Given the description of an element on the screen output the (x, y) to click on. 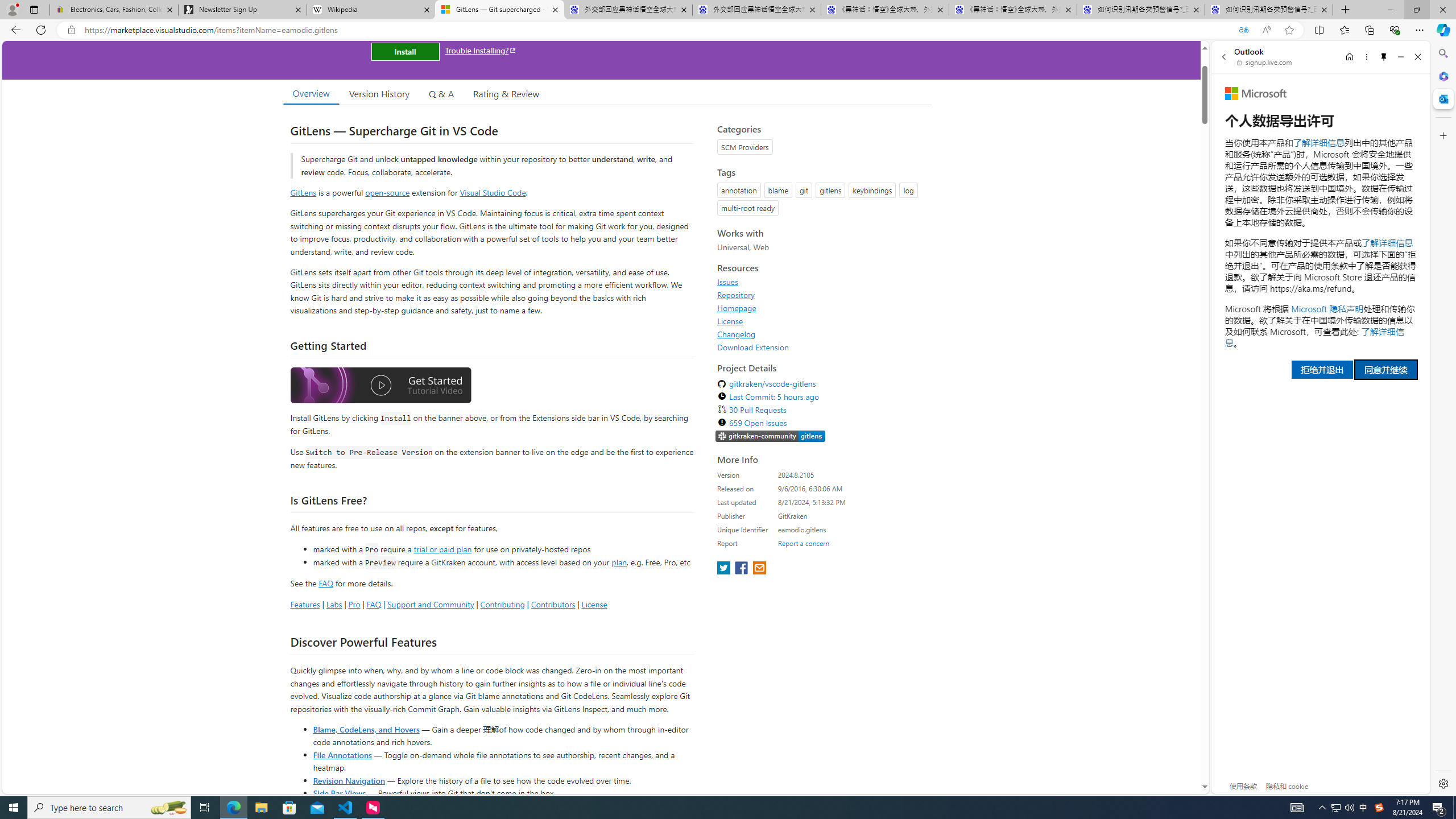
Overview (310, 92)
Unpin side pane (1383, 56)
Support and Community (430, 603)
Revision Navigation (348, 780)
Translated (1243, 29)
Blame, CodeLens, and Hovers (366, 728)
Changelog (736, 333)
https://slack.gitkraken.com// (769, 436)
Electronics, Cars, Fashion, Collectibles & More | eBay (114, 9)
Watch the GitLens Getting Started video (380, 385)
Issues (820, 281)
